Given the description of an element on the screen output the (x, y) to click on. 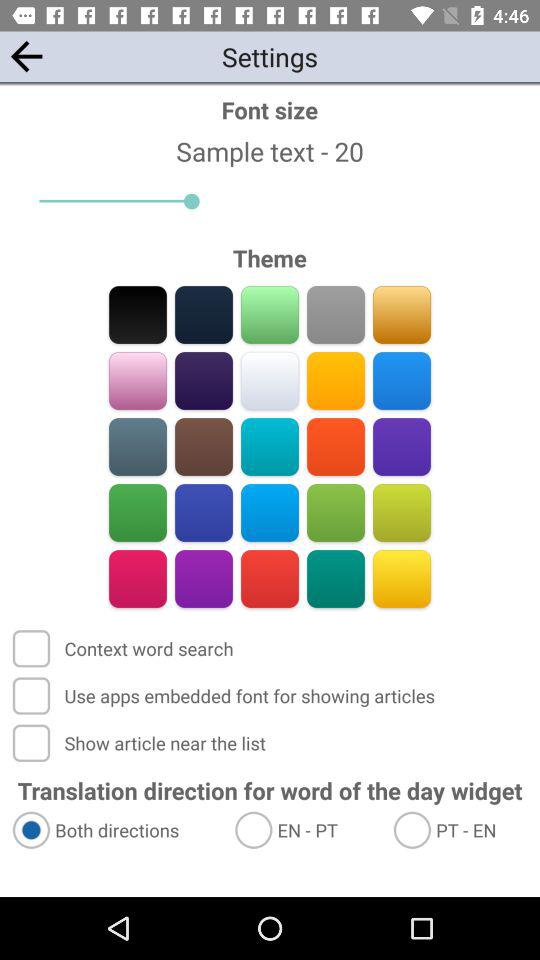
go bought ways (269, 314)
